Given the description of an element on the screen output the (x, y) to click on. 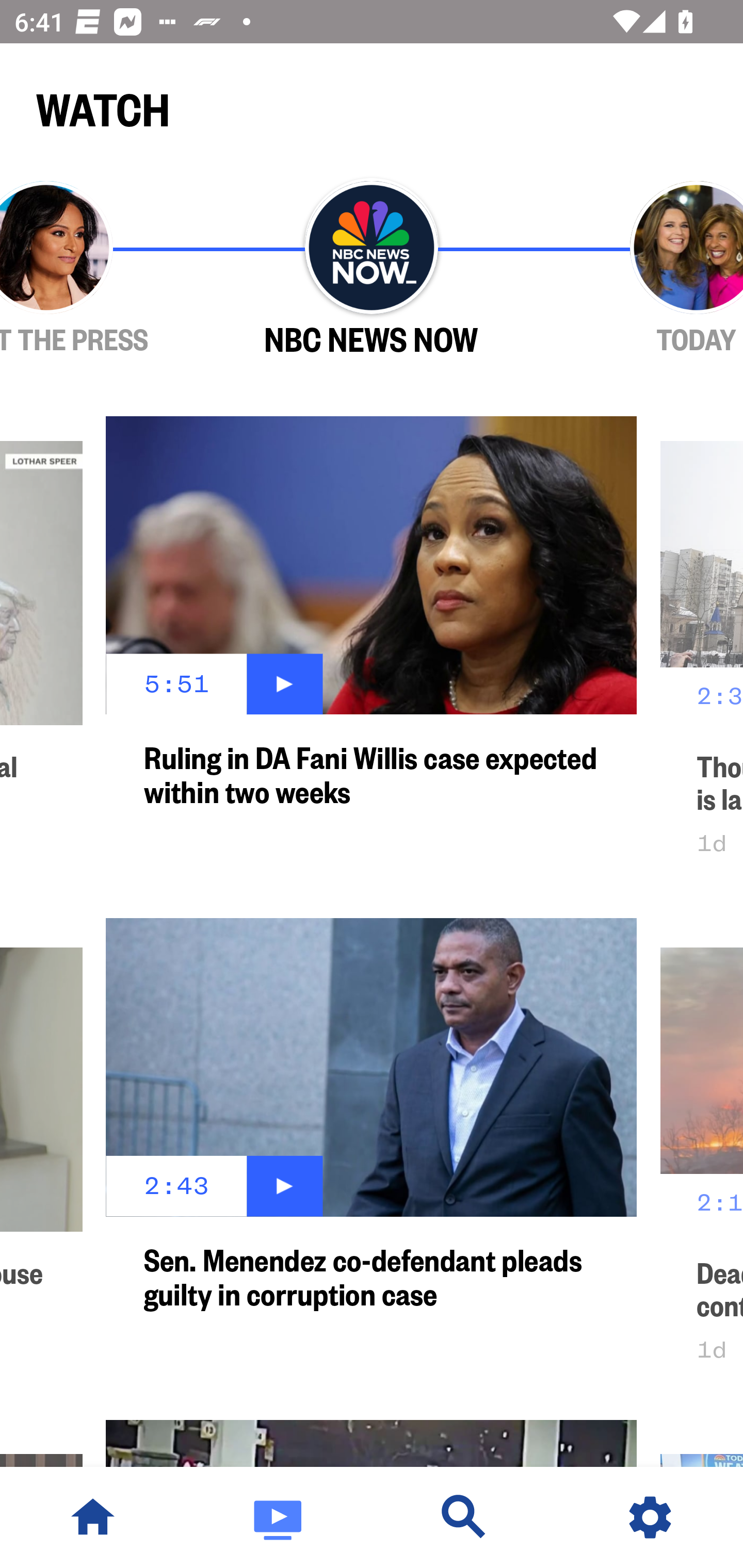
MEET THE PRESS (104, 268)
NBC NEWS NOW (371, 268)
TODAY (638, 268)
NBC News Home (92, 1517)
Discover (464, 1517)
Settings (650, 1517)
